Given the description of an element on the screen output the (x, y) to click on. 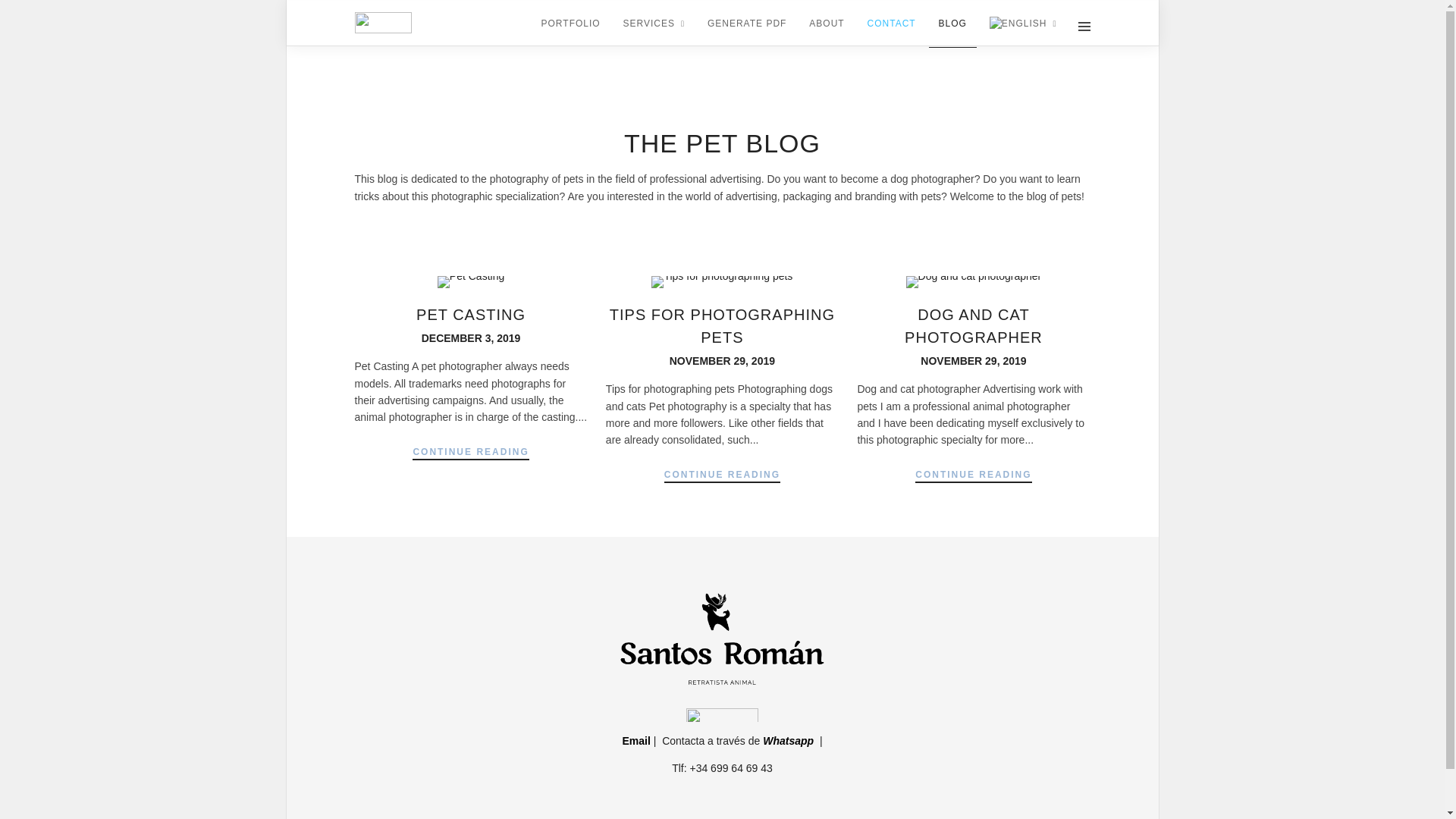
GENERATE PDF (746, 23)
TIPS FOR PHOTOGRAPHING PETS (722, 325)
CONTINUE READING (721, 476)
Pet Casting (470, 314)
Pet Casting (471, 337)
Tips for photographing pets (722, 325)
CONTINUE READING (470, 453)
CONTINUE READING (972, 476)
Dog and cat photographer (973, 325)
DOG AND CAT PHOTOGRAPHER (973, 325)
ABOUT (826, 23)
PET CASTING (470, 314)
DECEMBER 3, 2019 (471, 337)
CONTACT (891, 24)
PORTFOLIO (570, 23)
